Given the description of an element on the screen output the (x, y) to click on. 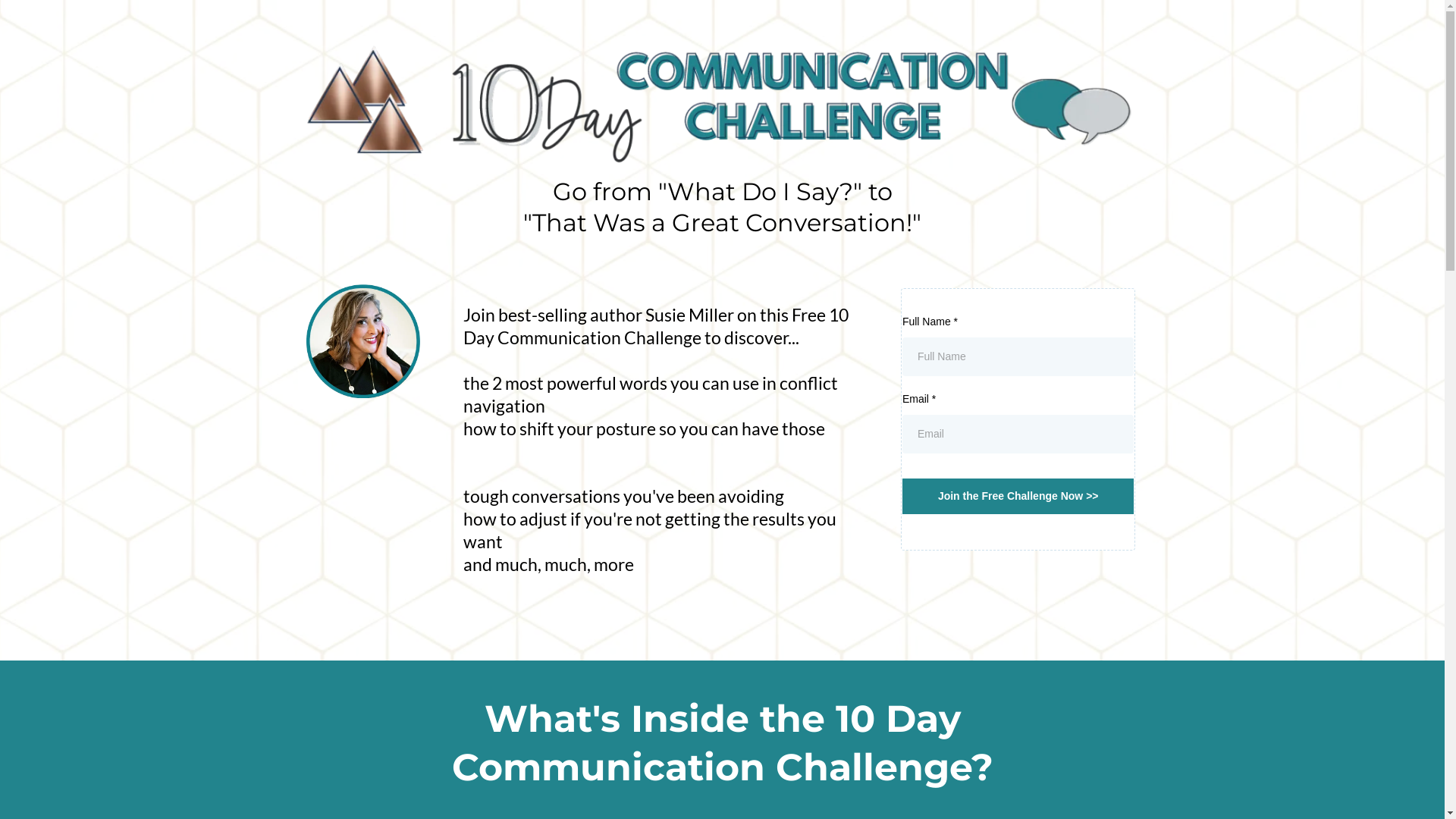
Join the Free Challenge Now >> Element type: text (1018, 496)
